Given the description of an element on the screen output the (x, y) to click on. 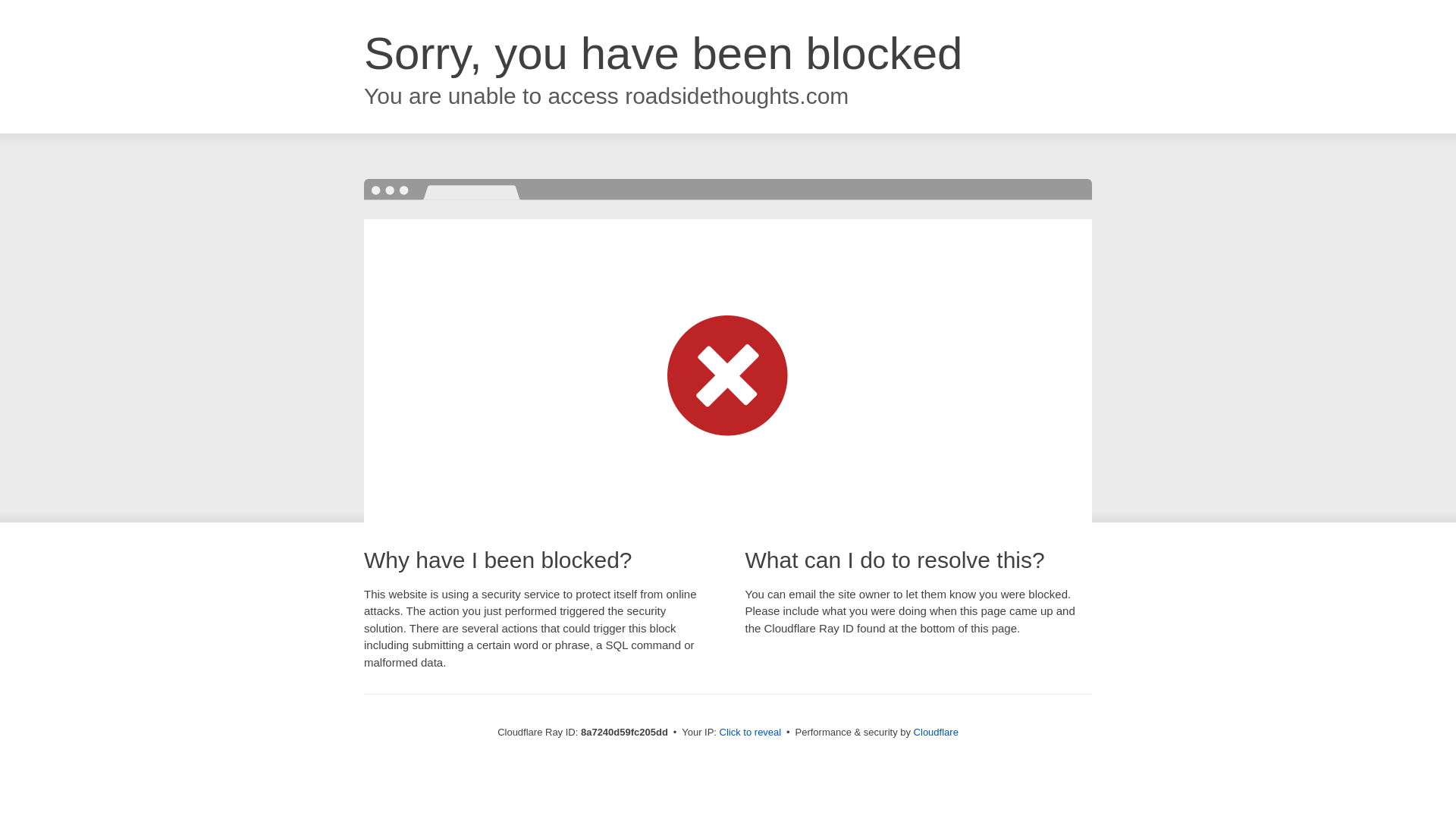
Click to reveal (750, 732)
Cloudflare (936, 731)
